Given the description of an element on the screen output the (x, y) to click on. 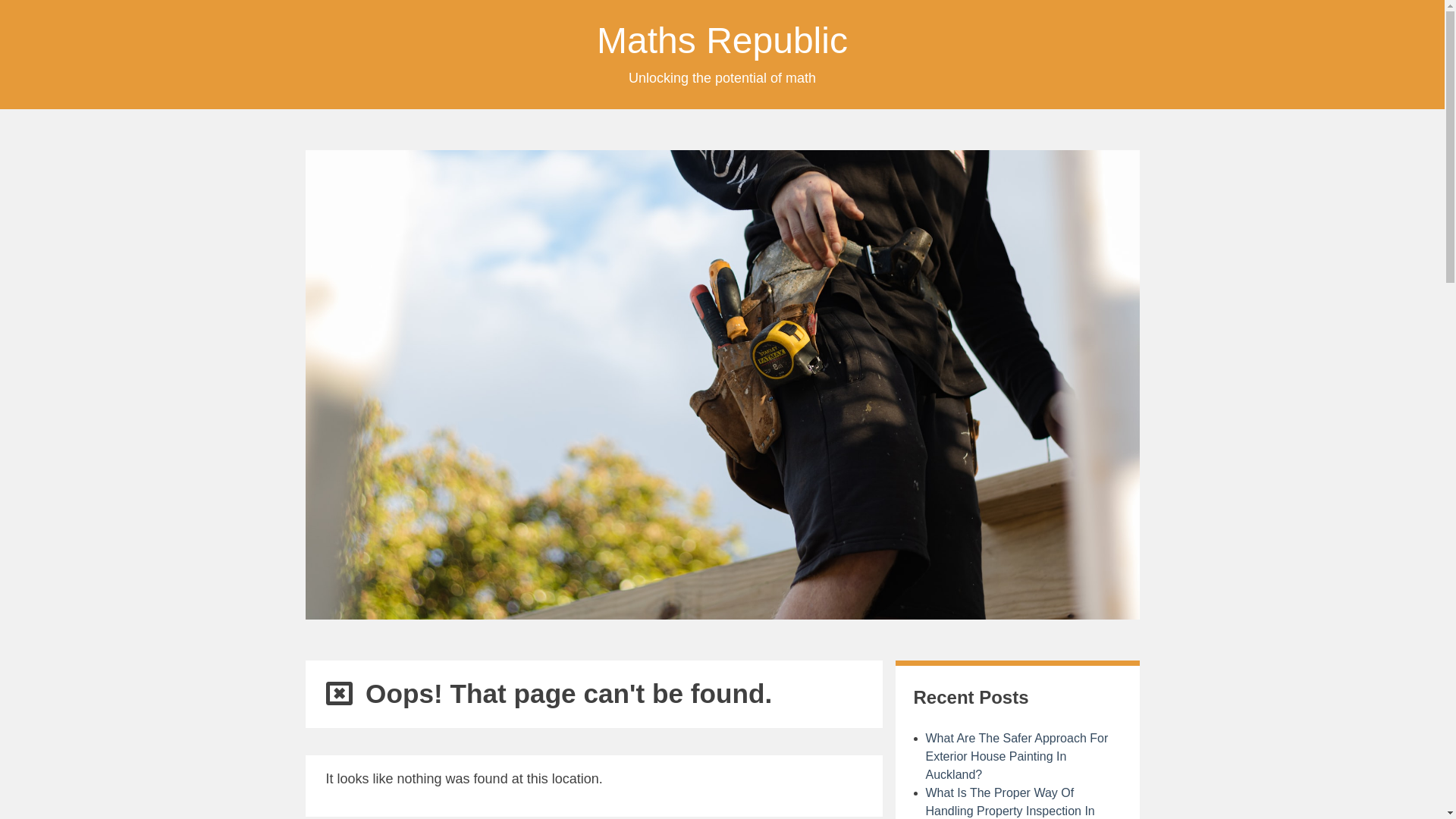
Maths Republic Element type: text (721, 40)
